Given the description of an element on the screen output the (x, y) to click on. 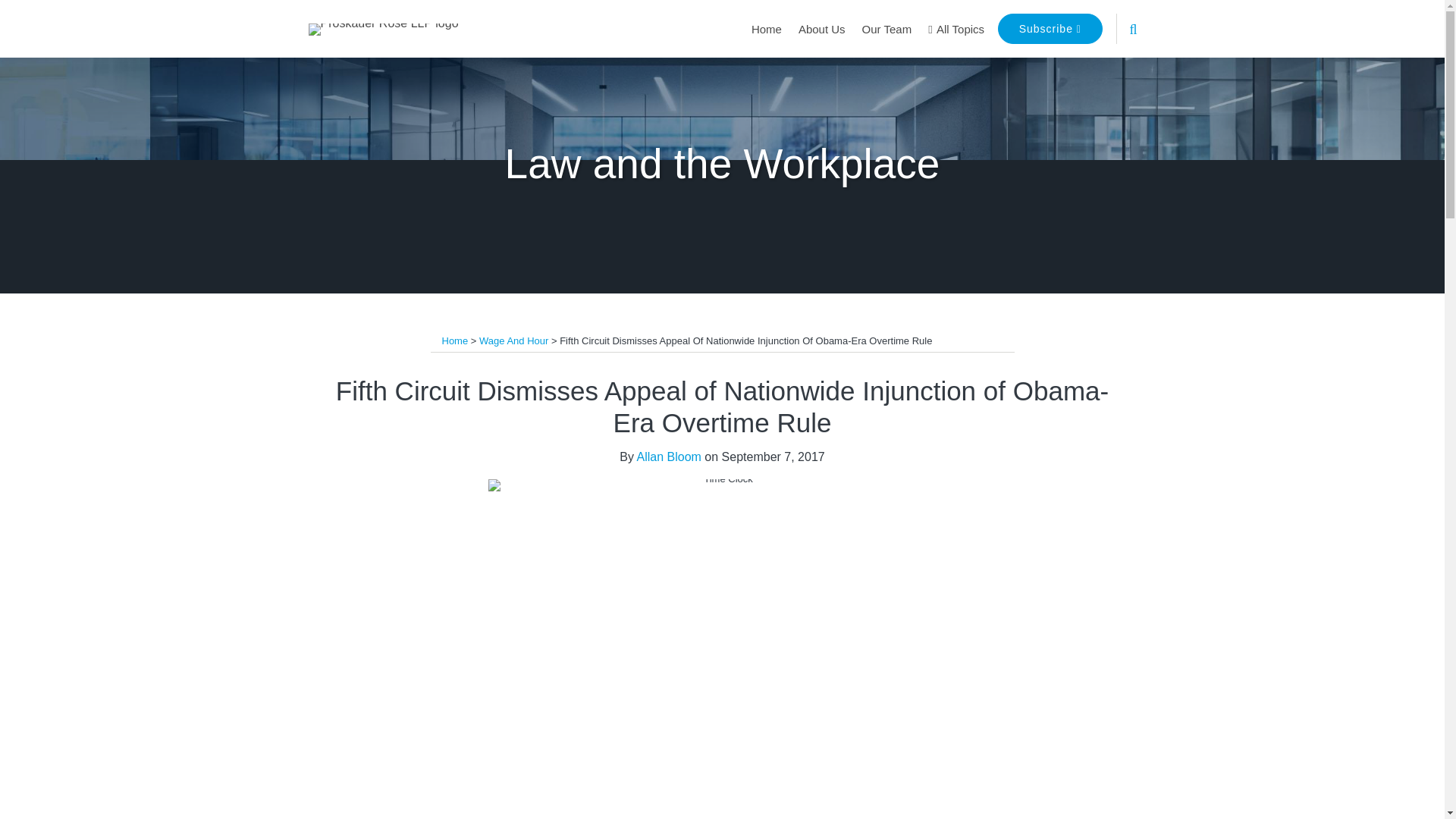
Our Team (886, 29)
Home (766, 29)
Allan Bloom (669, 456)
Subscribe (1049, 28)
All Topics (956, 29)
Home (454, 340)
Wage And Hour (513, 340)
About Us (821, 29)
Law and the Workplace (722, 163)
